Given the description of an element on the screen output the (x, y) to click on. 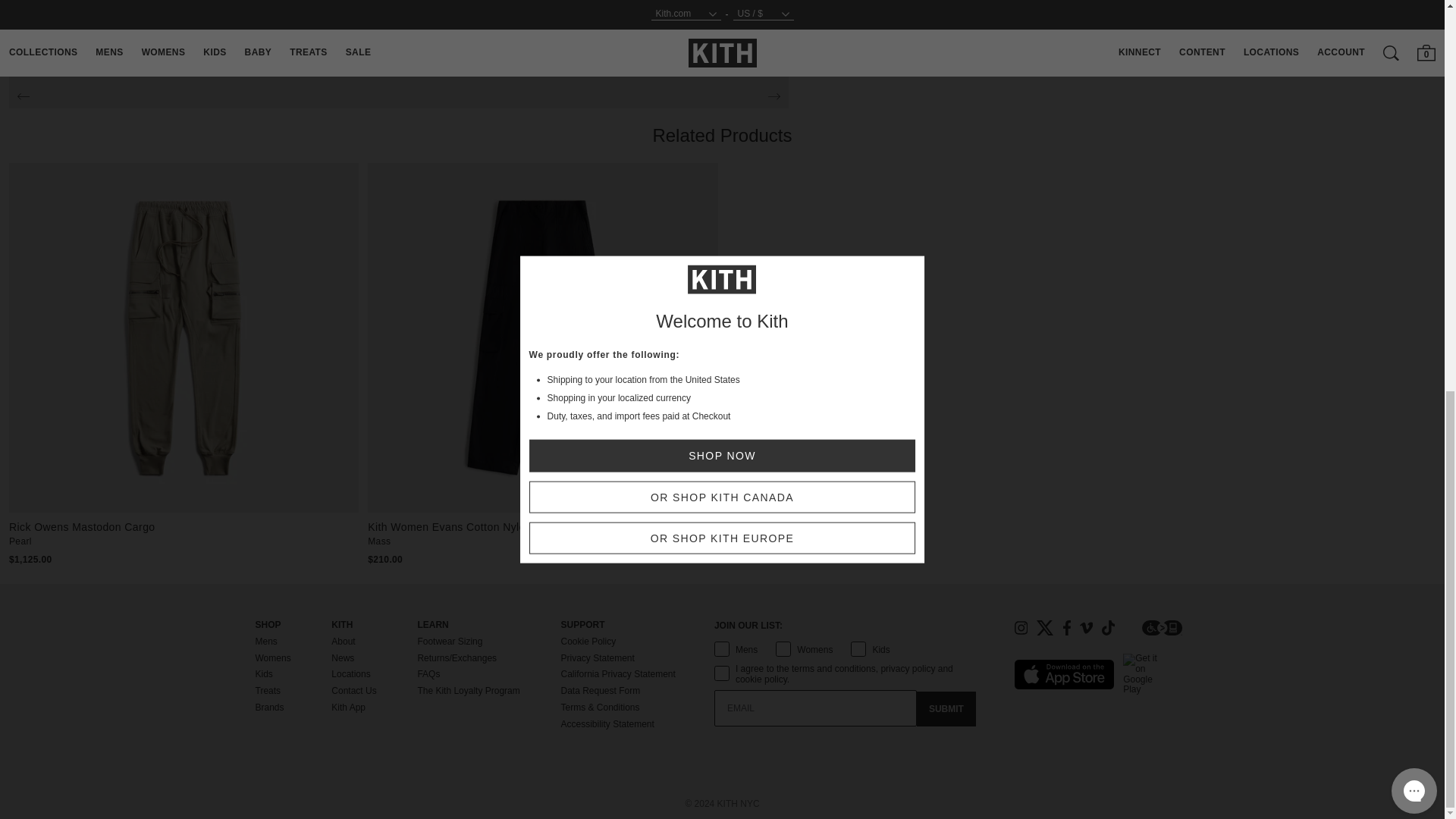
X (1044, 627)
Instagram (1020, 627)
essential Accessibility Icon (1161, 627)
Vimeo (1086, 627)
X (1044, 627)
